Given the description of an element on the screen output the (x, y) to click on. 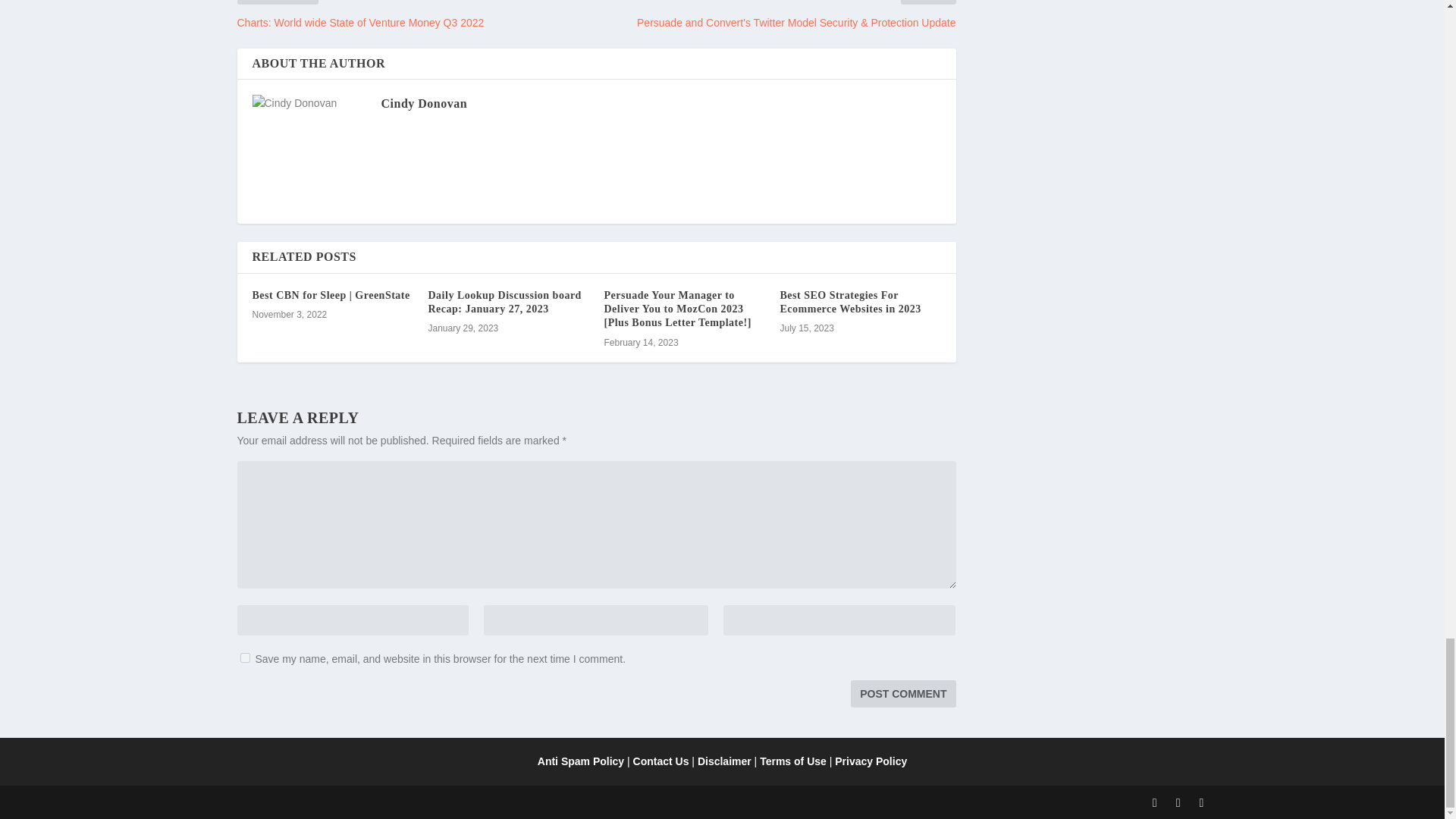
yes (244, 657)
Post Comment (902, 693)
